Given the description of an element on the screen output the (x, y) to click on. 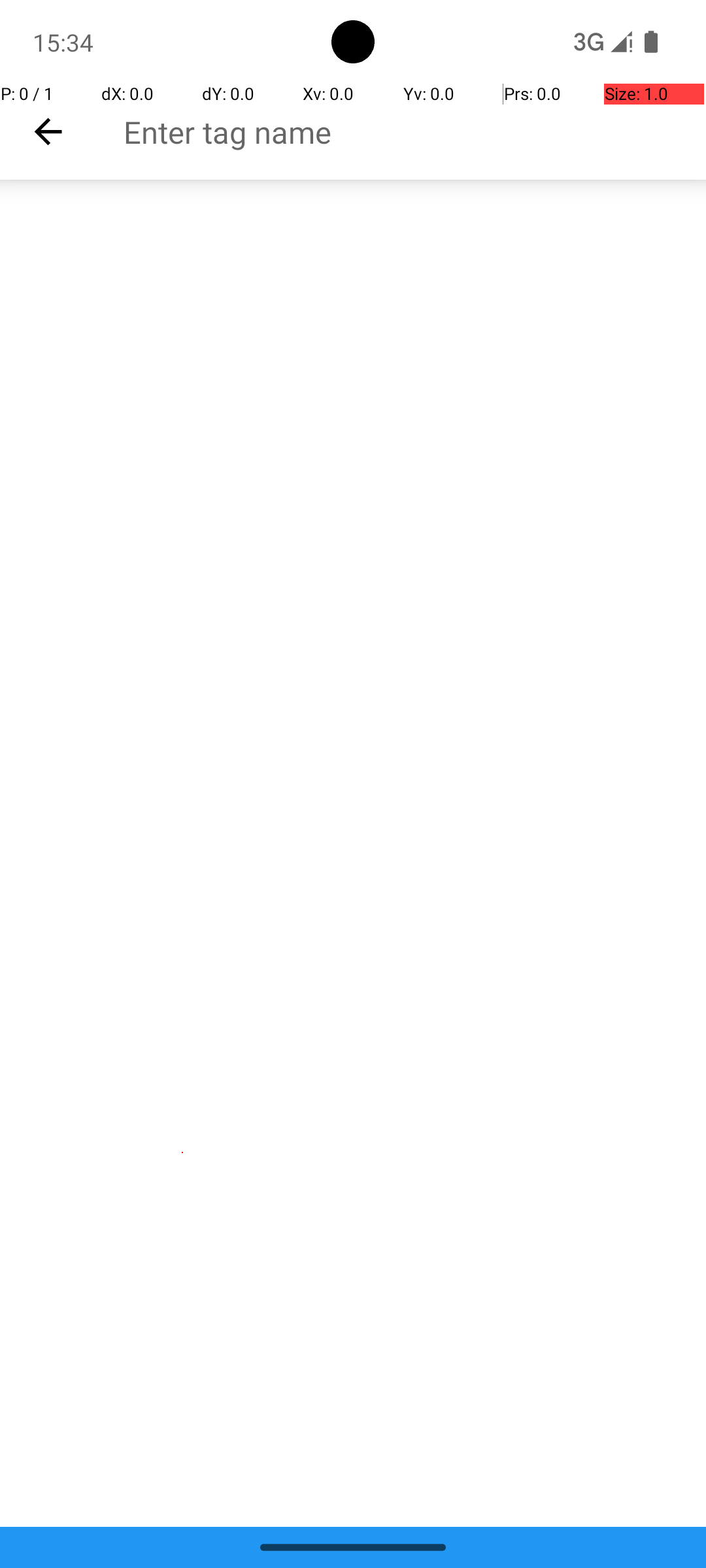
Enter tag name Element type: android.widget.EditText (414, 131)
